Given the description of an element on the screen output the (x, y) to click on. 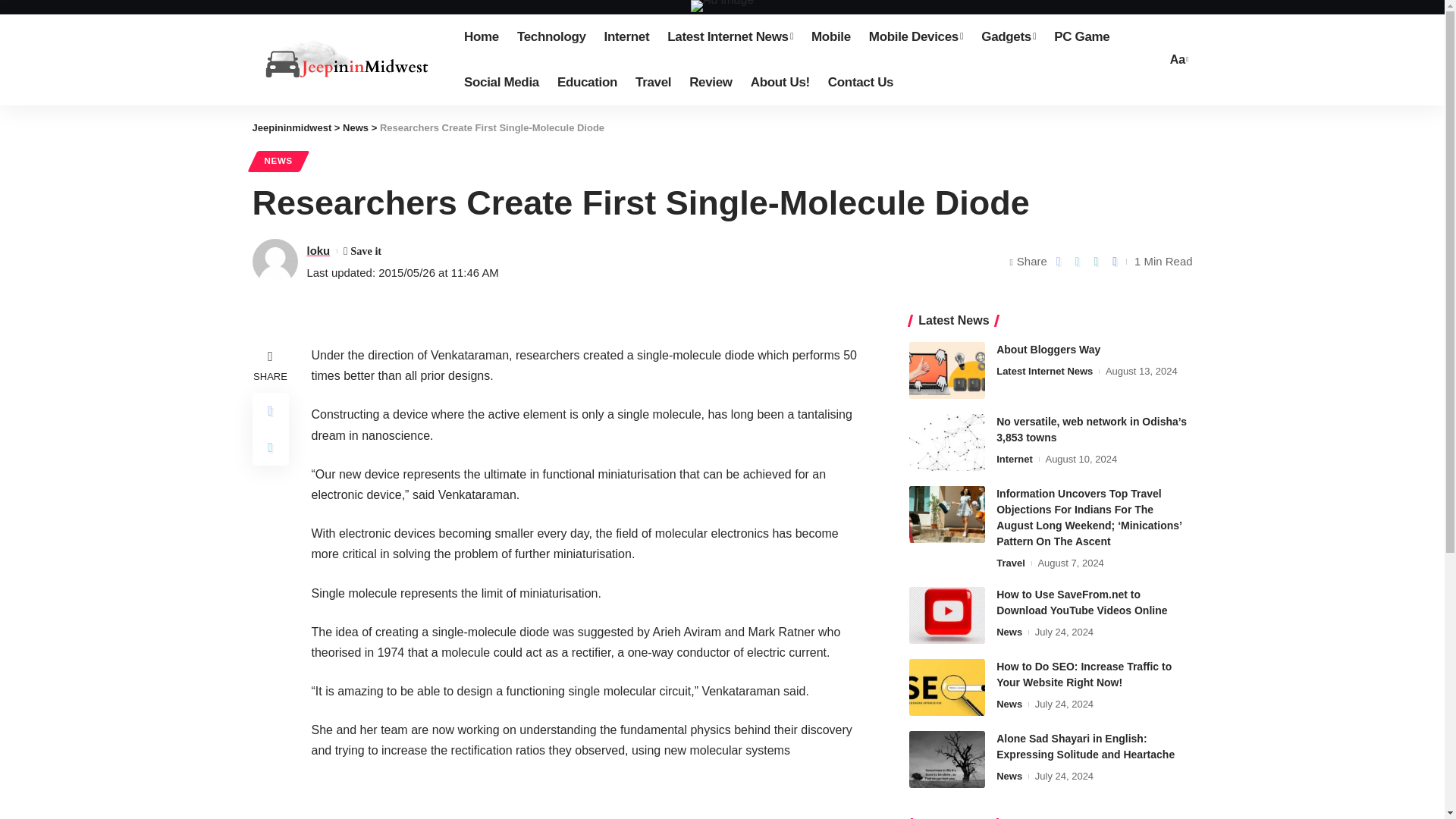
Travel (652, 82)
Contact Us (860, 82)
Mobile Devices (916, 36)
How to Do SEO: Increase Traffic to Your Website Right Now! (946, 687)
Review (710, 82)
Mobile (831, 36)
Go to the News Category archives. (355, 127)
Aa (1177, 59)
About Us! (779, 82)
Education (587, 82)
